Given the description of an element on the screen output the (x, y) to click on. 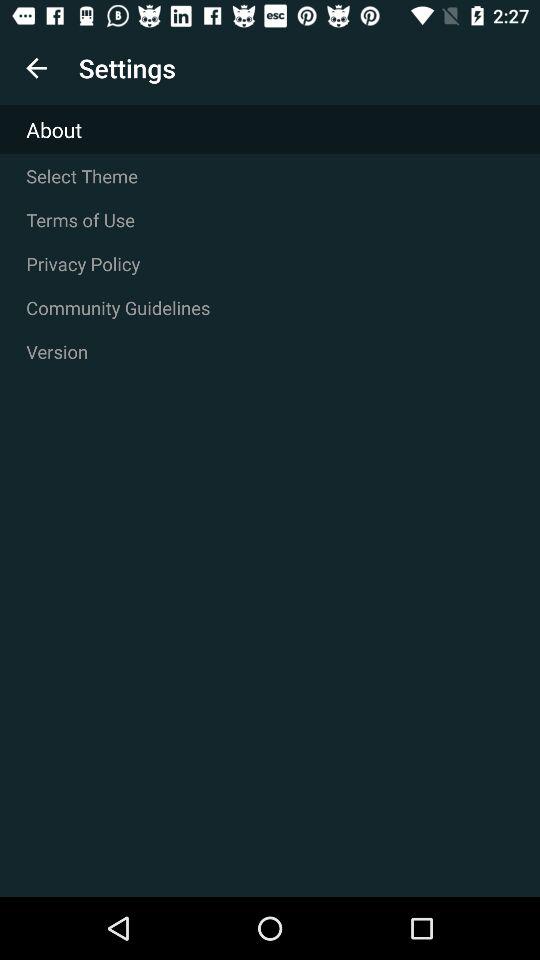
press the icon below the select theme item (270, 219)
